Given the description of an element on the screen output the (x, y) to click on. 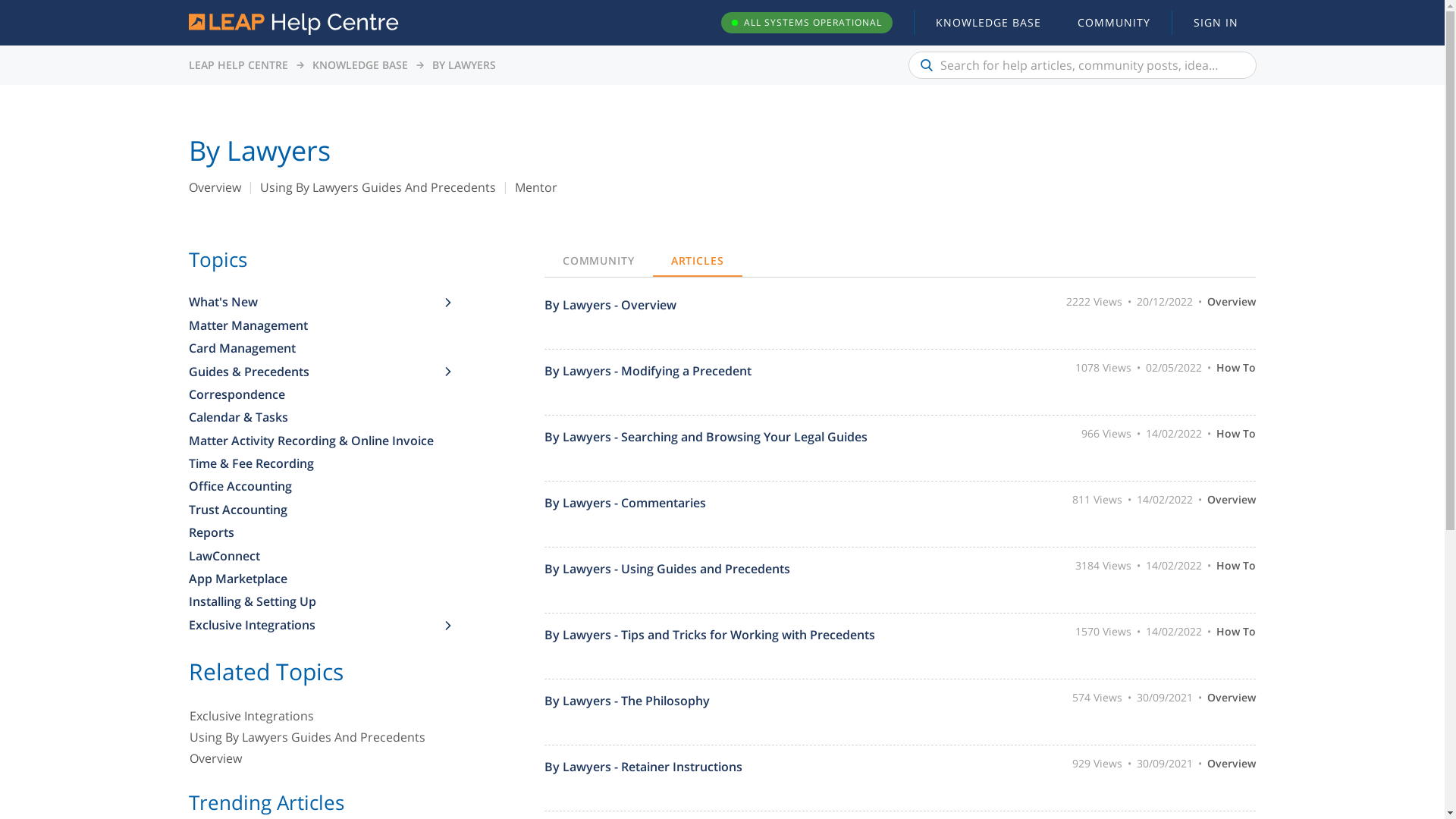
COMMUNITY Element type: text (598, 260)
By Lawyers - Retainer Instructions Element type: text (722, 766)
Expand Tree Branch Element type: text (447, 300)
Card Management Element type: text (314, 347)
By Lawyers - Searching and Browsing Your Legal Guides Element type: text (722, 436)
Overview Element type: text (214, 186)
By Lawyers - Modifying a Precedent Element type: text (722, 370)
Using By Lawyers Guides And Precedents Element type: text (322, 738)
COMMUNITY Element type: text (1112, 22)
KNOWLEDGE BASE Element type: text (359, 64)
By Lawyers - Overview Element type: text (722, 304)
Using By Lawyers Guides And Precedents Element type: text (377, 186)
KNOWLEDGE BASE Element type: text (988, 22)
App Marketplace Element type: text (314, 578)
Expand Tree Branch Element type: text (447, 370)
Installing & Setting Up Element type: text (314, 601)
Calendar & Tasks Element type: text (314, 416)
Time & Fee Recording Element type: text (314, 463)
ALL SYSTEMS OPERATIONAL Element type: text (805, 22)
Exclusive Integrations Element type: text (314, 624)
Office Accounting Element type: text (314, 485)
Matter Activity Recording & Online Invoice Element type: text (314, 440)
LawConnect Element type: text (314, 555)
SIGN IN Element type: text (1215, 22)
Reports Element type: text (314, 532)
What's New Element type: text (314, 301)
By Lawyers - The Philosophy Element type: text (722, 700)
Correspondence Element type: text (314, 394)
LEAP HELP CENTRE Element type: text (237, 64)
By Lawyers - Tips and Tricks for Working with Precedents Element type: text (722, 634)
Mentor Element type: text (535, 186)
Guides & Precedents Element type: text (314, 371)
ARTICLES Element type: text (697, 260)
Exclusive Integrations Element type: text (322, 717)
Overview Element type: text (322, 759)
Matter Management Element type: text (314, 325)
By Lawyers - Commentaries Element type: text (722, 502)
By Lawyers - Using Guides and Precedents Element type: text (722, 568)
Trust Accounting Element type: text (314, 509)
Expand Tree Branch Element type: text (447, 623)
